Given the description of an element on the screen output the (x, y) to click on. 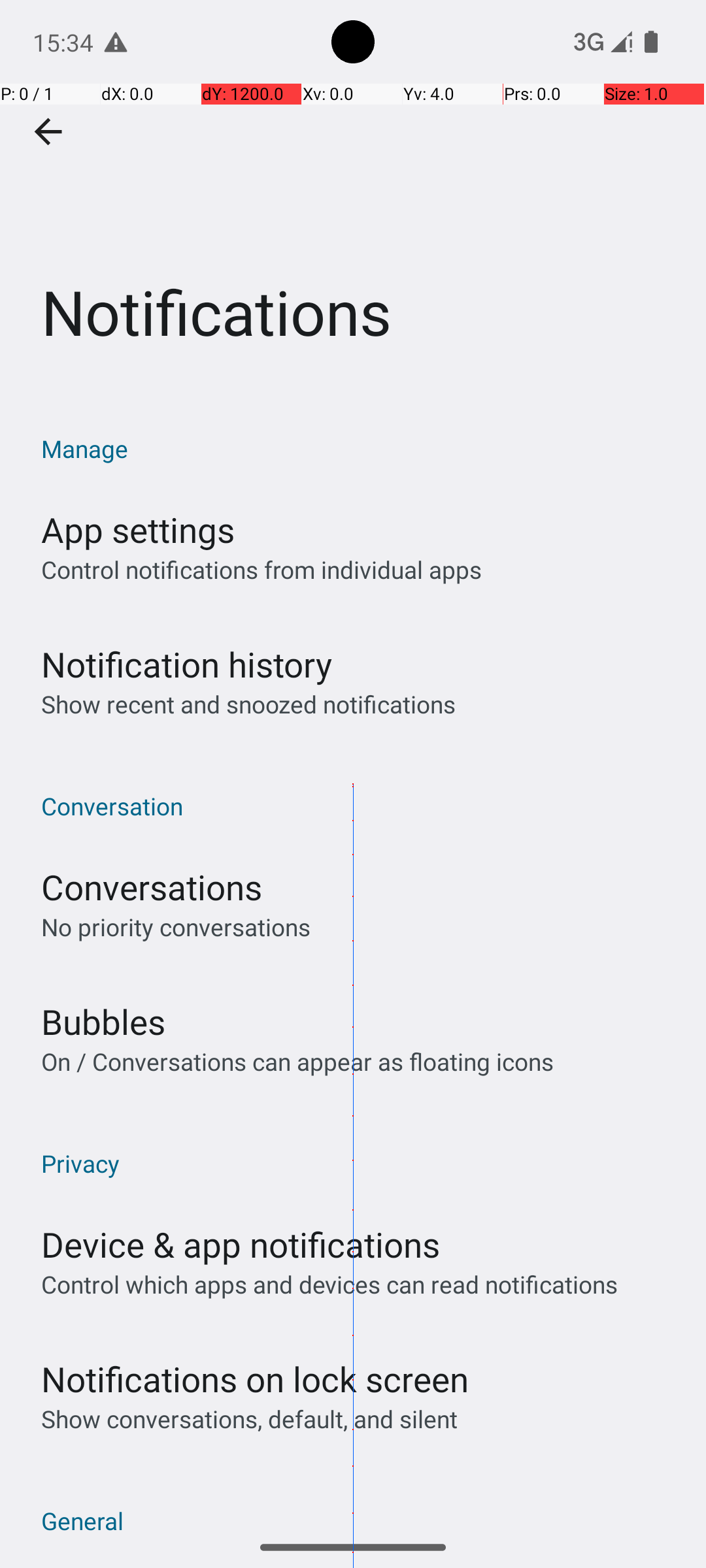
Manage Element type: android.widget.TextView (359, 448)
App settings Element type: android.widget.TextView (137, 529)
Control notifications from individual apps Element type: android.widget.TextView (261, 569)
Notification history Element type: android.widget.TextView (186, 663)
Show recent and snoozed notifications Element type: android.widget.TextView (248, 703)
Conversation Element type: android.widget.TextView (359, 805)
Conversations Element type: android.widget.TextView (151, 886)
No priority conversations Element type: android.widget.TextView (175, 926)
Bubbles Element type: android.widget.TextView (103, 1021)
On / Conversations can appear as floating icons Element type: android.widget.TextView (297, 1061)
Privacy Element type: android.widget.TextView (359, 1162)
Device & app notifications Element type: android.widget.TextView (240, 1244)
Control which apps and devices can read notifications Element type: android.widget.TextView (329, 1283)
Notifications on lock screen Element type: android.widget.TextView (254, 1378)
Show conversations, default, and silent Element type: android.widget.TextView (249, 1418)
